Given the description of an element on the screen output the (x, y) to click on. 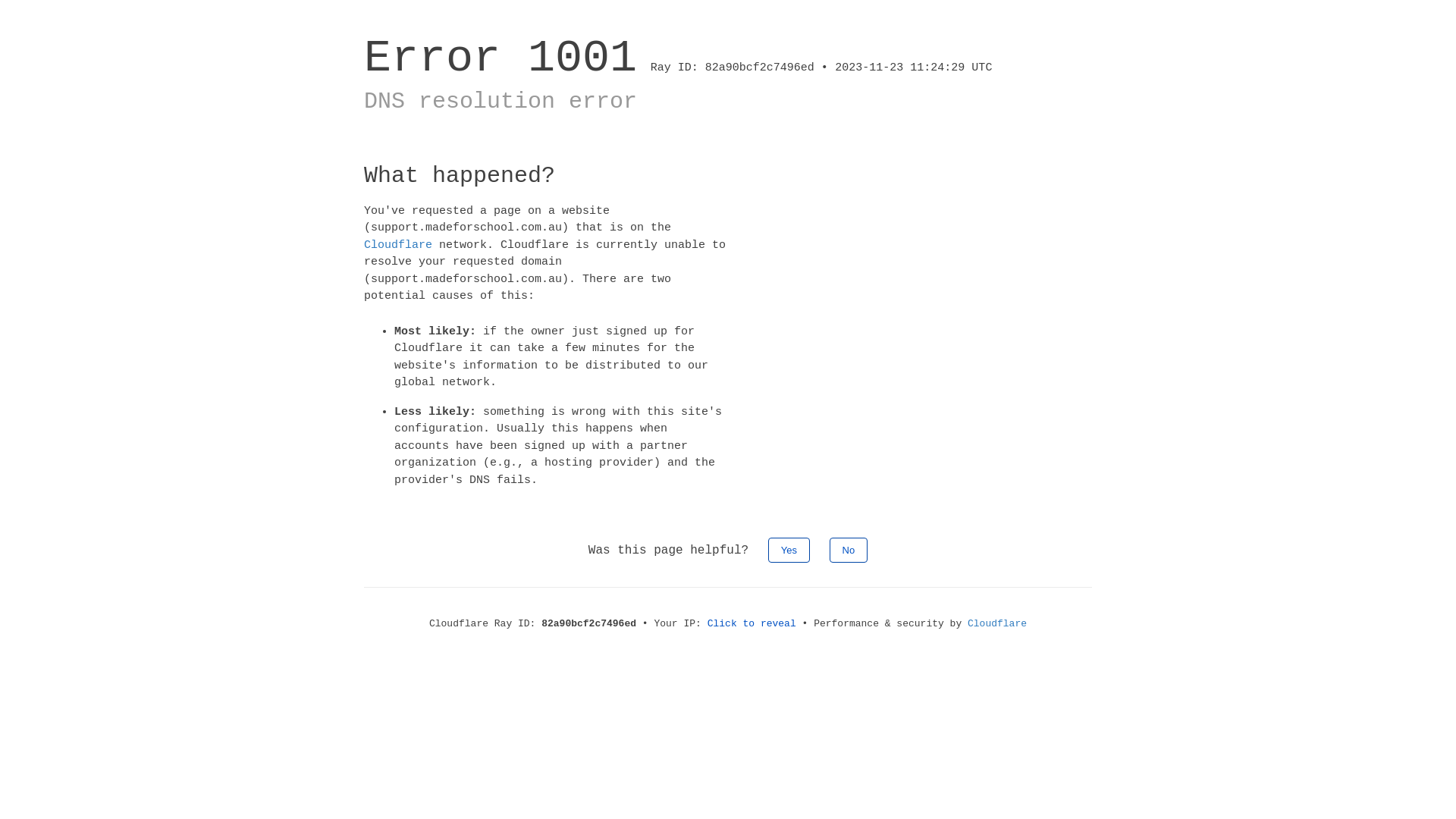
Click to reveal Element type: text (751, 623)
Cloudflare Element type: text (398, 244)
Yes Element type: text (788, 549)
Cloudflare Element type: text (996, 623)
No Element type: text (848, 549)
